Given the description of an element on the screen output the (x, y) to click on. 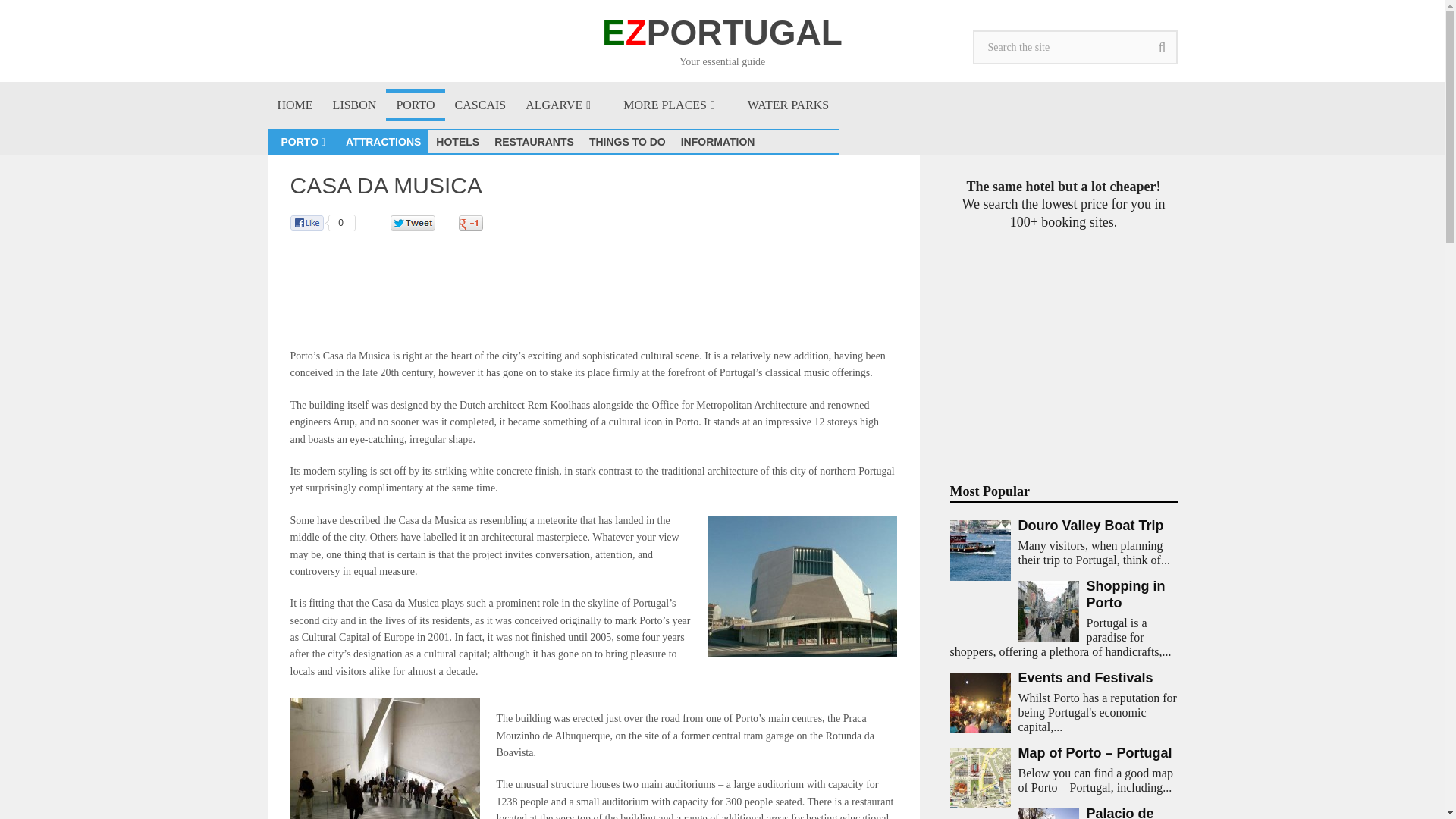
Essential guide to Portugal (293, 104)
EZPORTUGAL (722, 32)
Lisbon portugal (355, 104)
ALGARVE (563, 104)
Porto Portugal (414, 105)
PORTO (414, 105)
HOME (293, 104)
MORE PLACES (675, 104)
CASCAIS (480, 104)
WATER PARKS (788, 104)
LISBON (355, 104)
